Given the description of an element on the screen output the (x, y) to click on. 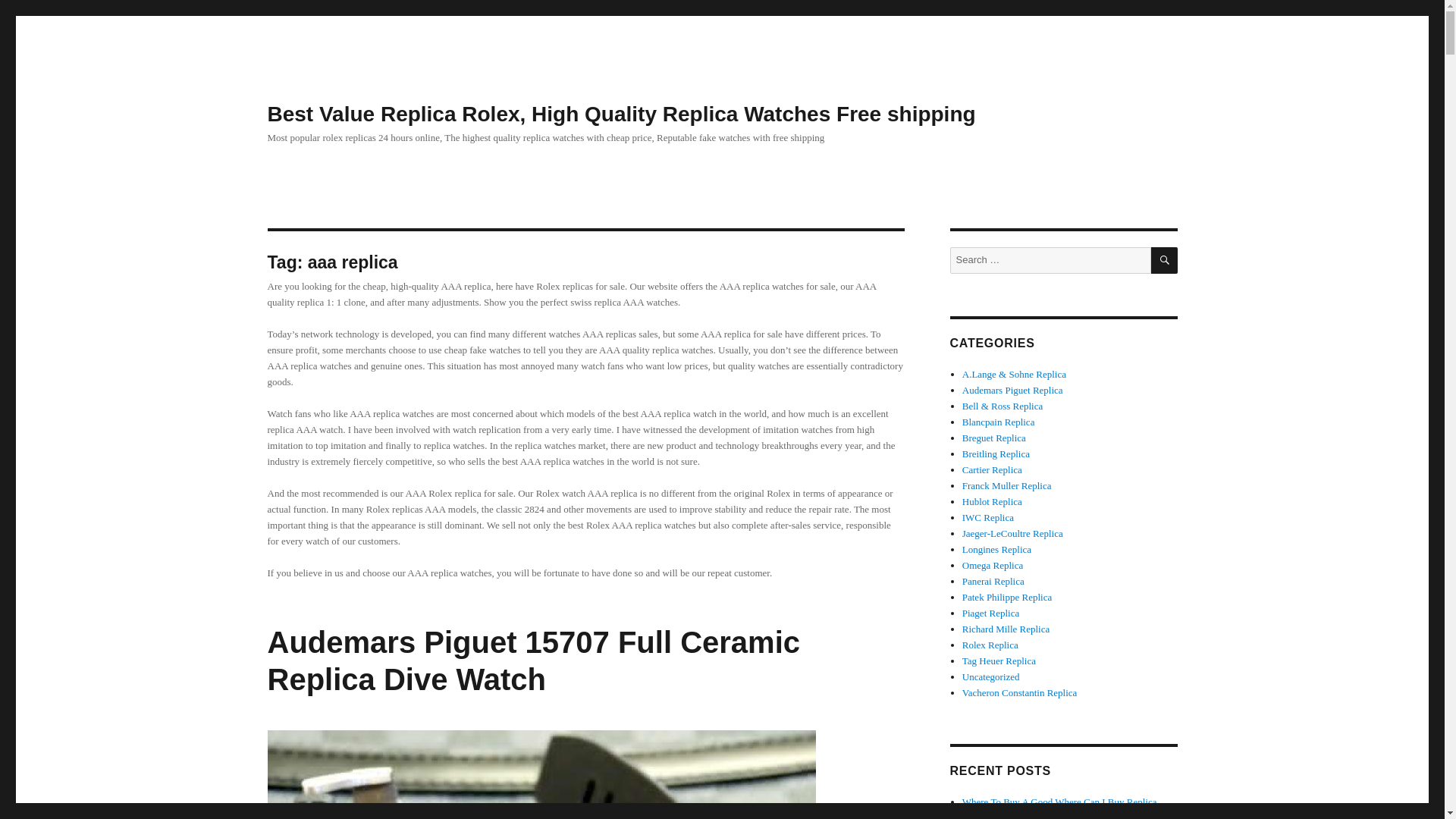
Audemars Piguet 15707 Full Ceramic Replica Dive Watch (532, 660)
